Given the description of an element on the screen output the (x, y) to click on. 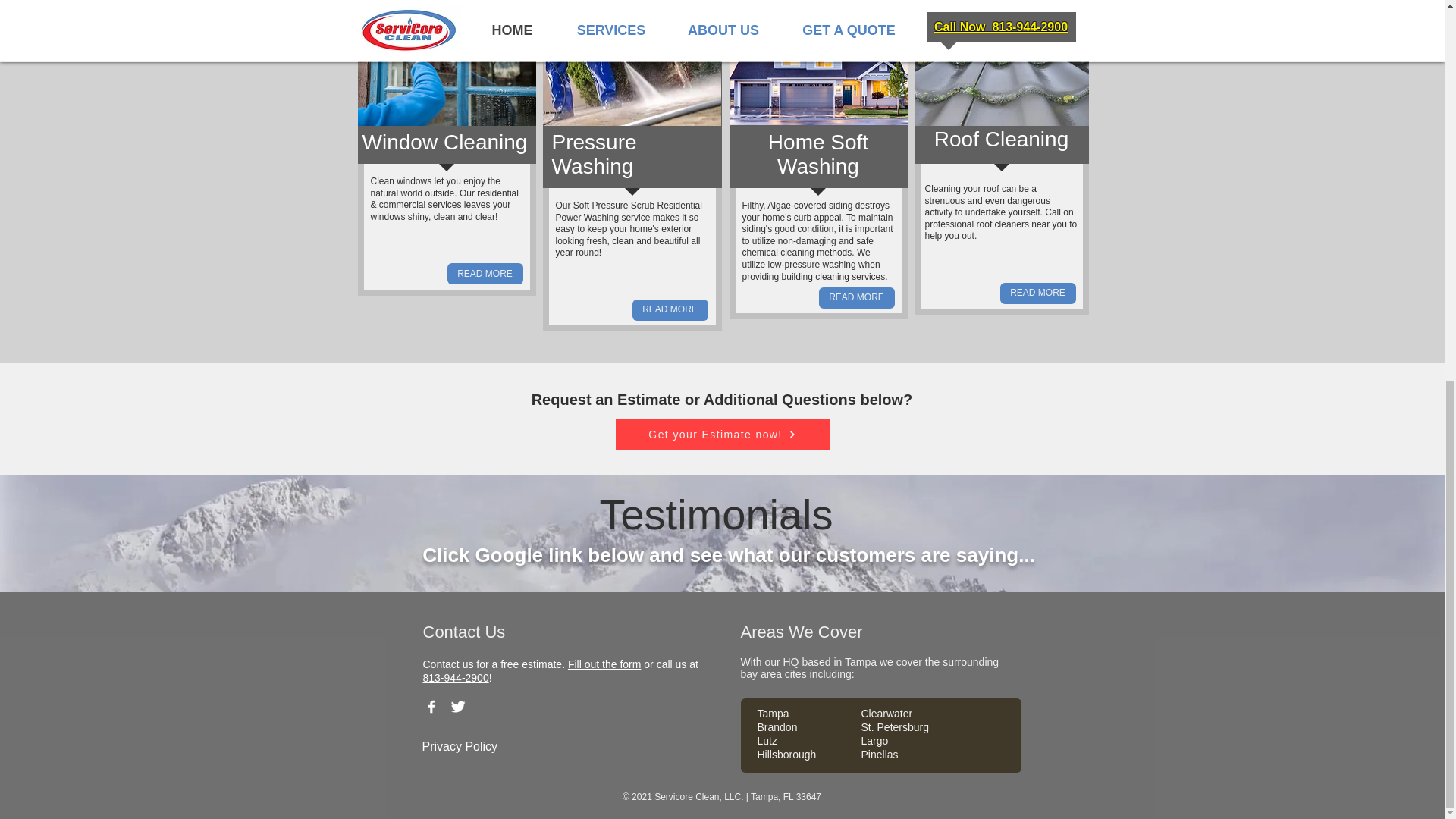
813-944-2900 (456, 677)
Privacy Policy (459, 746)
READ MORE (484, 273)
Get your Estimate now! (722, 434)
READ MORE (856, 297)
Fill out the form (603, 664)
READ MORE (1036, 292)
READ MORE (669, 310)
